Given the description of an element on the screen output the (x, y) to click on. 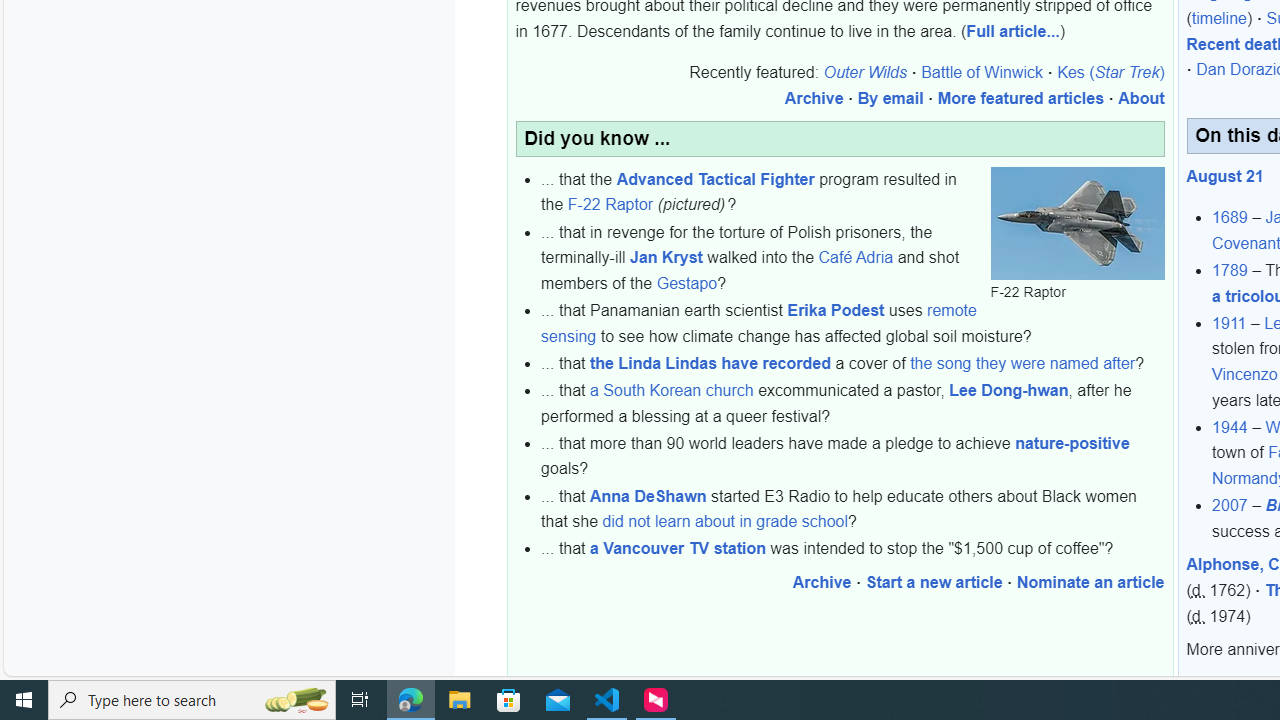
1789 (1230, 271)
Archive (822, 582)
Kes (Star Trek) (1110, 73)
Anna DeShawn (648, 495)
the Linda Lindas have recorded (710, 363)
Lee Dong-hwan (1008, 391)
2007 (1230, 505)
Kes (Star Trek) (1110, 73)
Outer Wilds (865, 73)
